Given the description of an element on the screen output the (x, y) to click on. 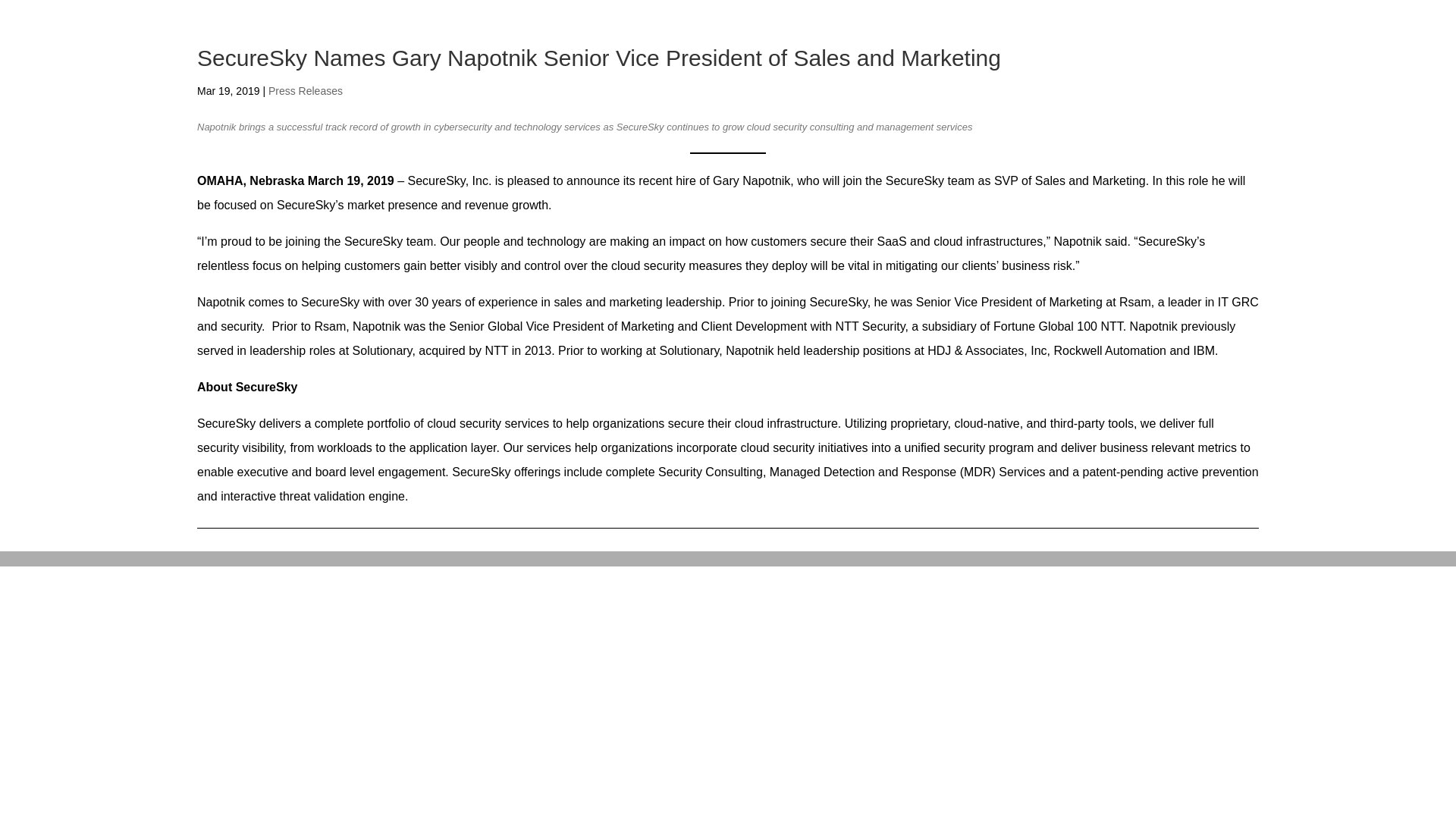
Resources (1054, 44)
What We Do (878, 44)
Contact Us (1179, 44)
About Us (967, 44)
